Given the description of an element on the screen output the (x, y) to click on. 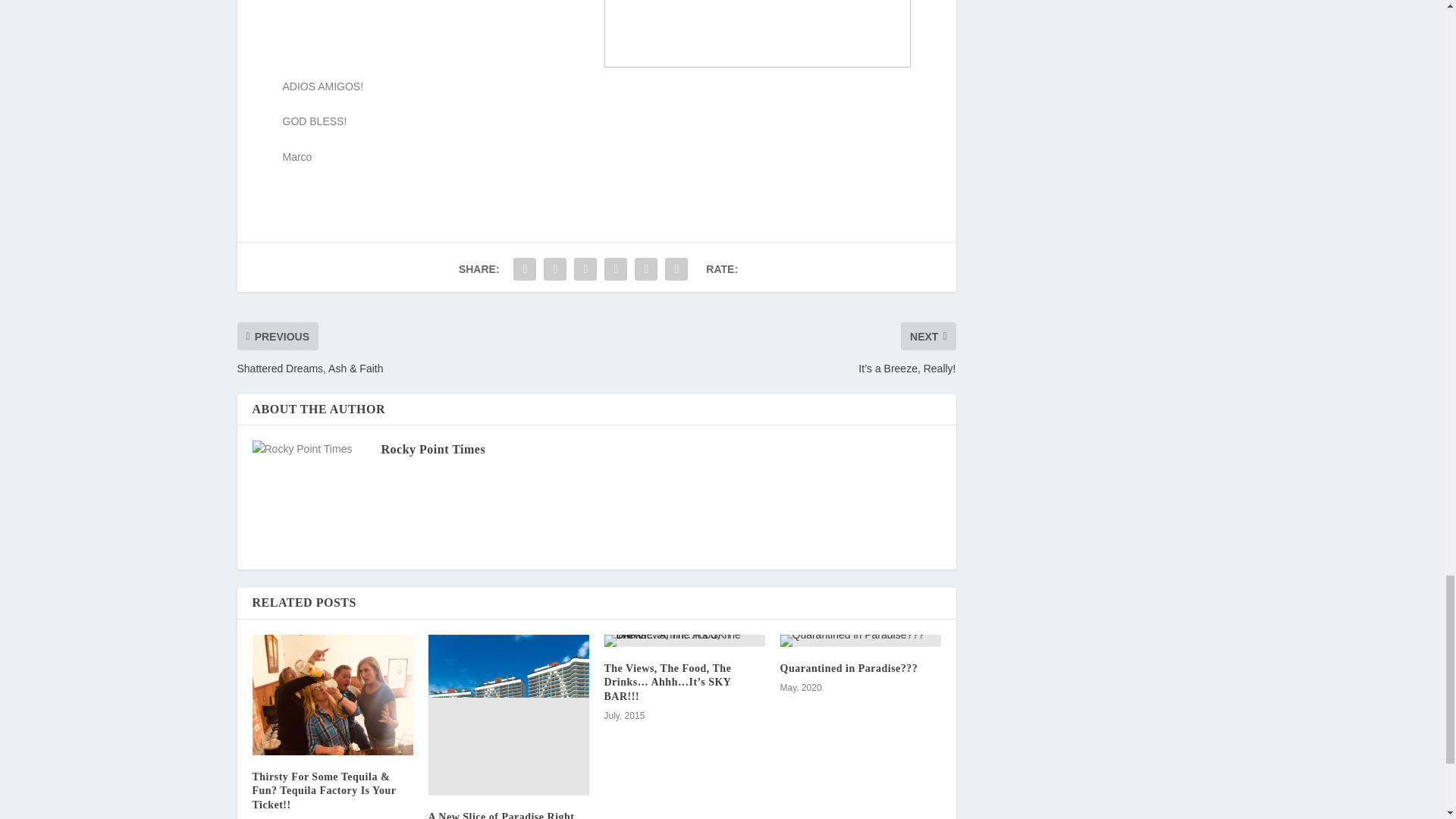
Share "Dreaming of My Beach Time in Rocky Point" via Tumblr (614, 268)
Rocky Point Times (432, 449)
Quarantined in Paradise??? (859, 640)
Share "Dreaming of My Beach Time in Rocky Point" via Print (676, 268)
Quarantined in Paradise??? (847, 668)
View all posts by Rocky Point Times (432, 449)
Share "Dreaming of My Beach Time in Rocky Point" via Twitter (555, 268)
